Given the description of an element on the screen output the (x, y) to click on. 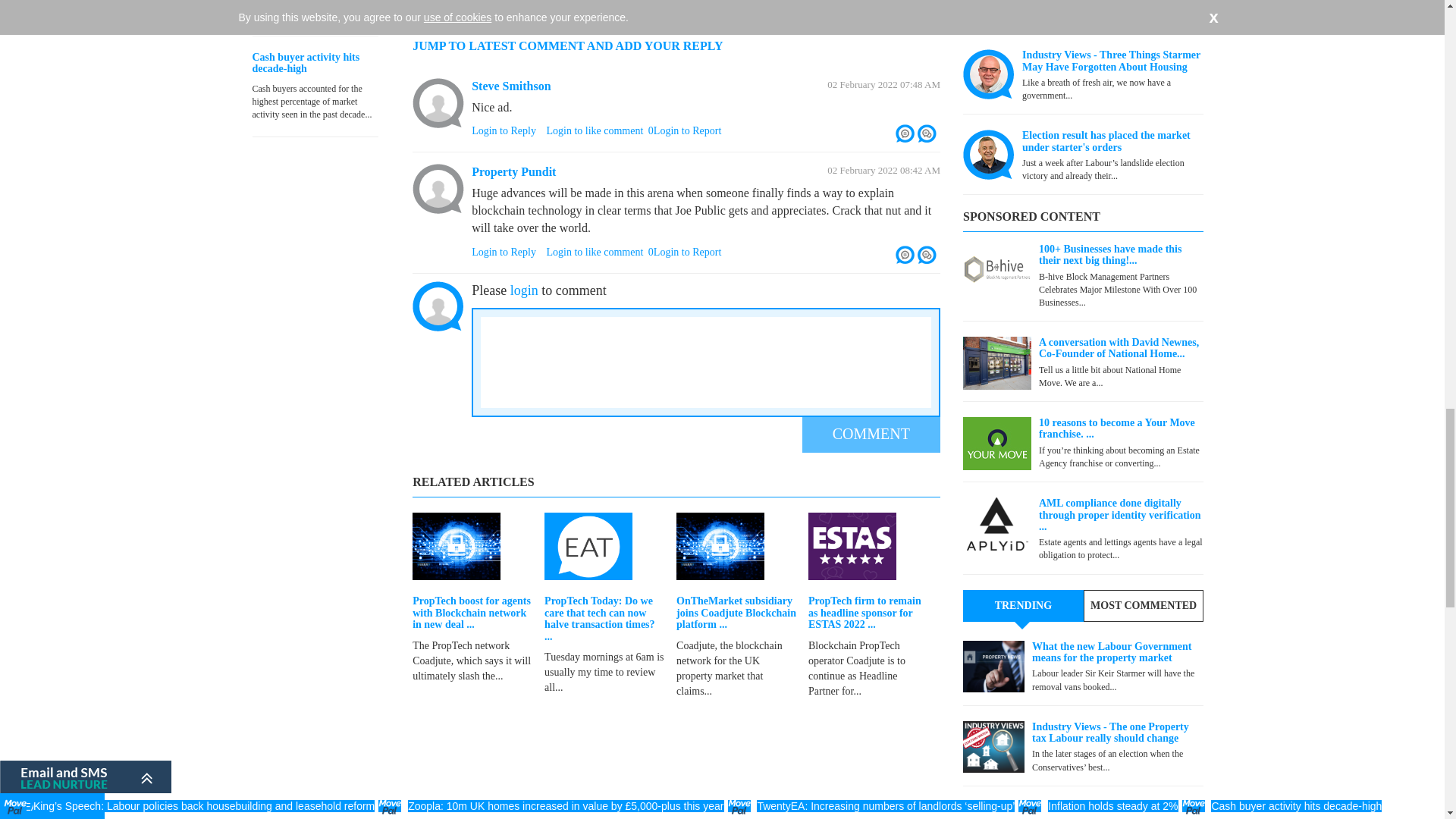
Comment (871, 433)
